Given the description of an element on the screen output the (x, y) to click on. 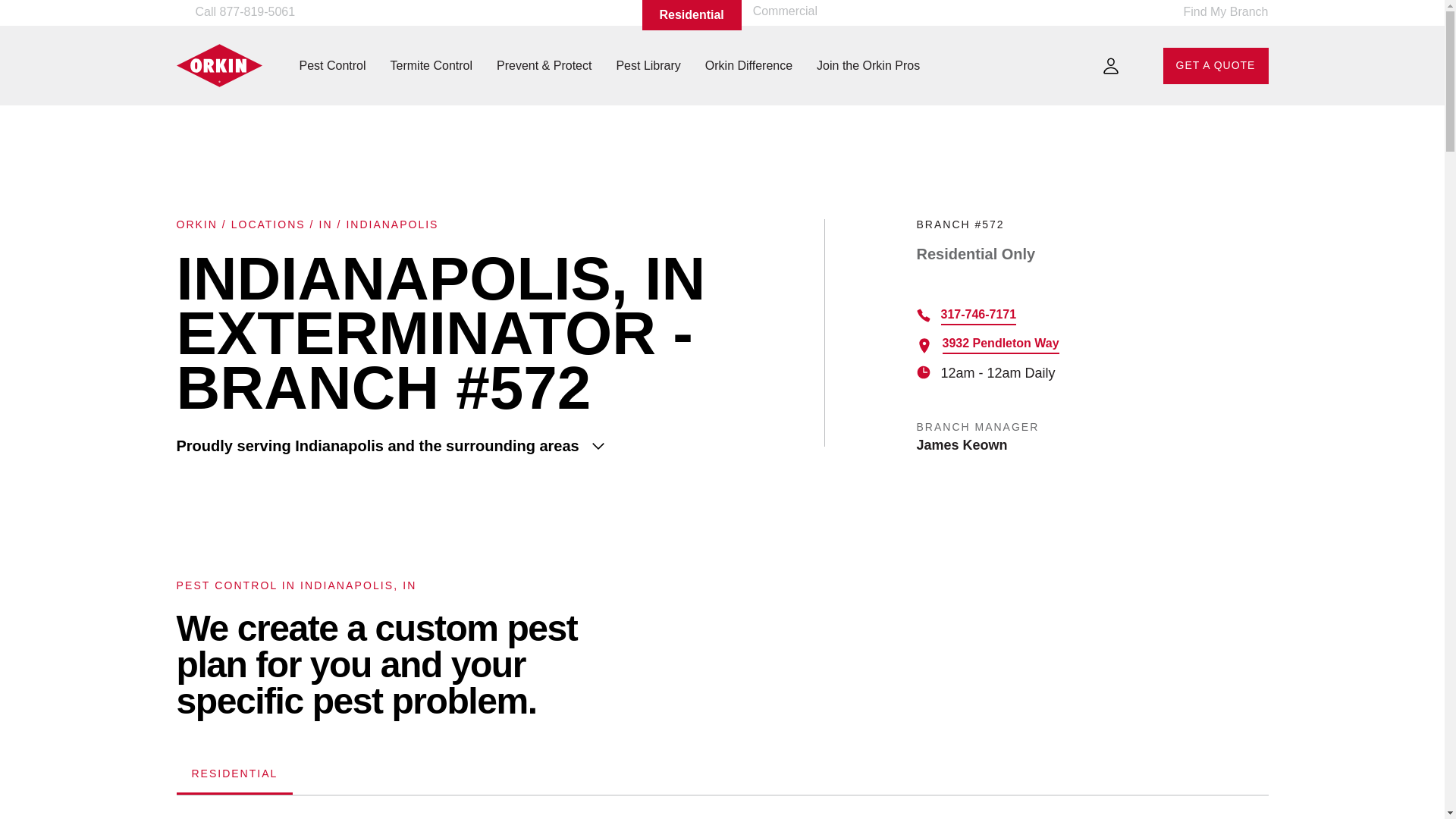
3932 Pendleton Way (1000, 344)
RESIDENTIAL (234, 774)
Call 877-819-5061 (241, 12)
Termite Control (430, 65)
GET A QUOTE (1215, 64)
LOCATIONS (268, 224)
Residential (691, 15)
Join the Orkin Pros (868, 65)
Proudly serving Indianapolis and the surrounding areas (490, 445)
ORKIN (196, 224)
INDIANAPOLIS (392, 224)
IN (324, 224)
Find My Branch (1215, 15)
317-746-7171 (978, 316)
Commercial (784, 10)
